Given the description of an element on the screen output the (x, y) to click on. 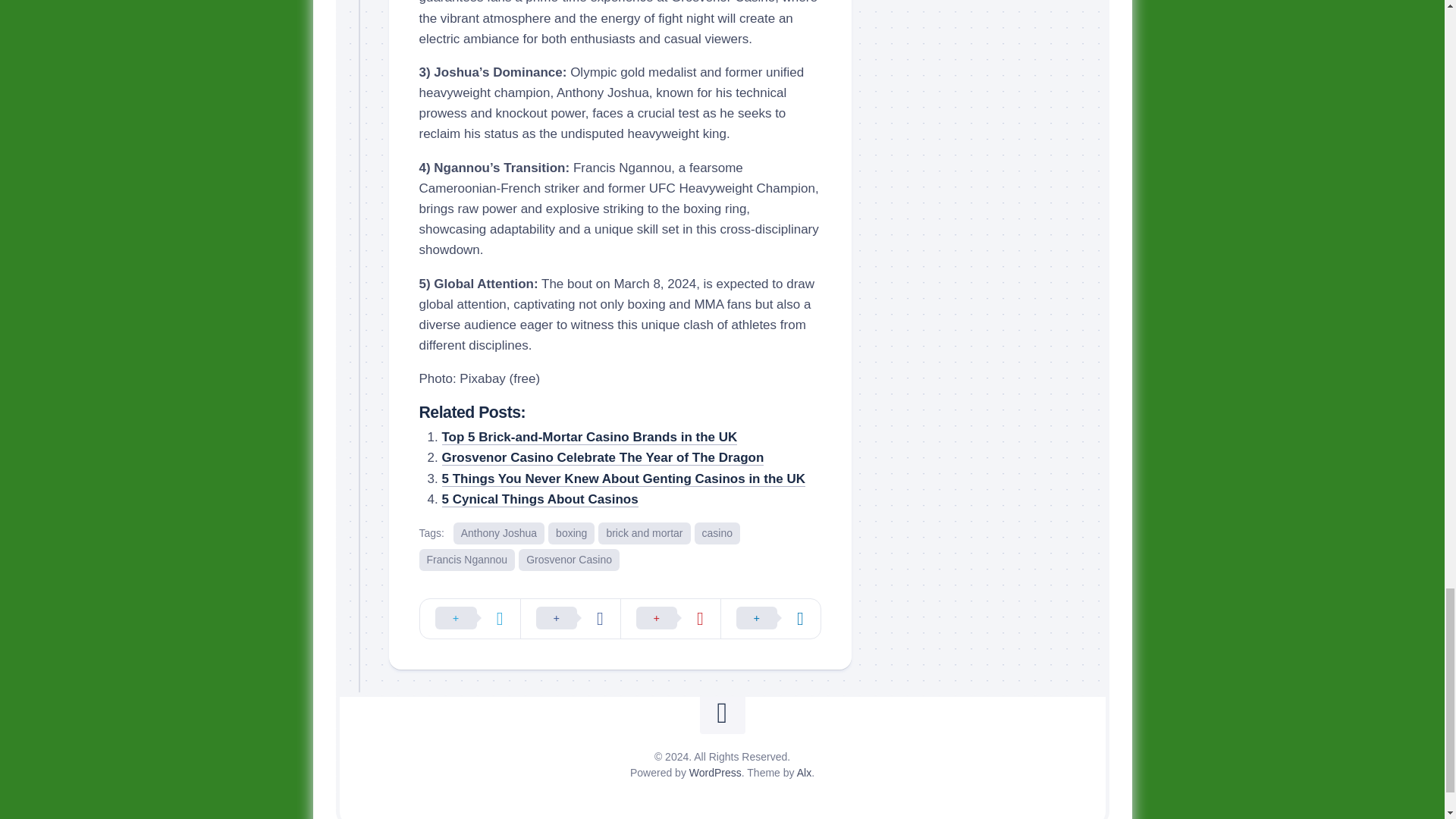
Grosvenor Casino Celebrate The Year of The Dragon (601, 457)
Share on LinkedIn (770, 618)
Anthony Joshua (498, 533)
5 Cynical Things About Casinos (539, 499)
Top 5 Brick-and-Mortar Casino Brands in the UK (588, 436)
5 Cynical Things About Casinos (539, 499)
5 Things You Never Knew About Genting Casinos in the UK (623, 478)
Share on Pinterest (670, 618)
Francis Ngannou (467, 559)
Share on X (469, 618)
